Given the description of an element on the screen output the (x, y) to click on. 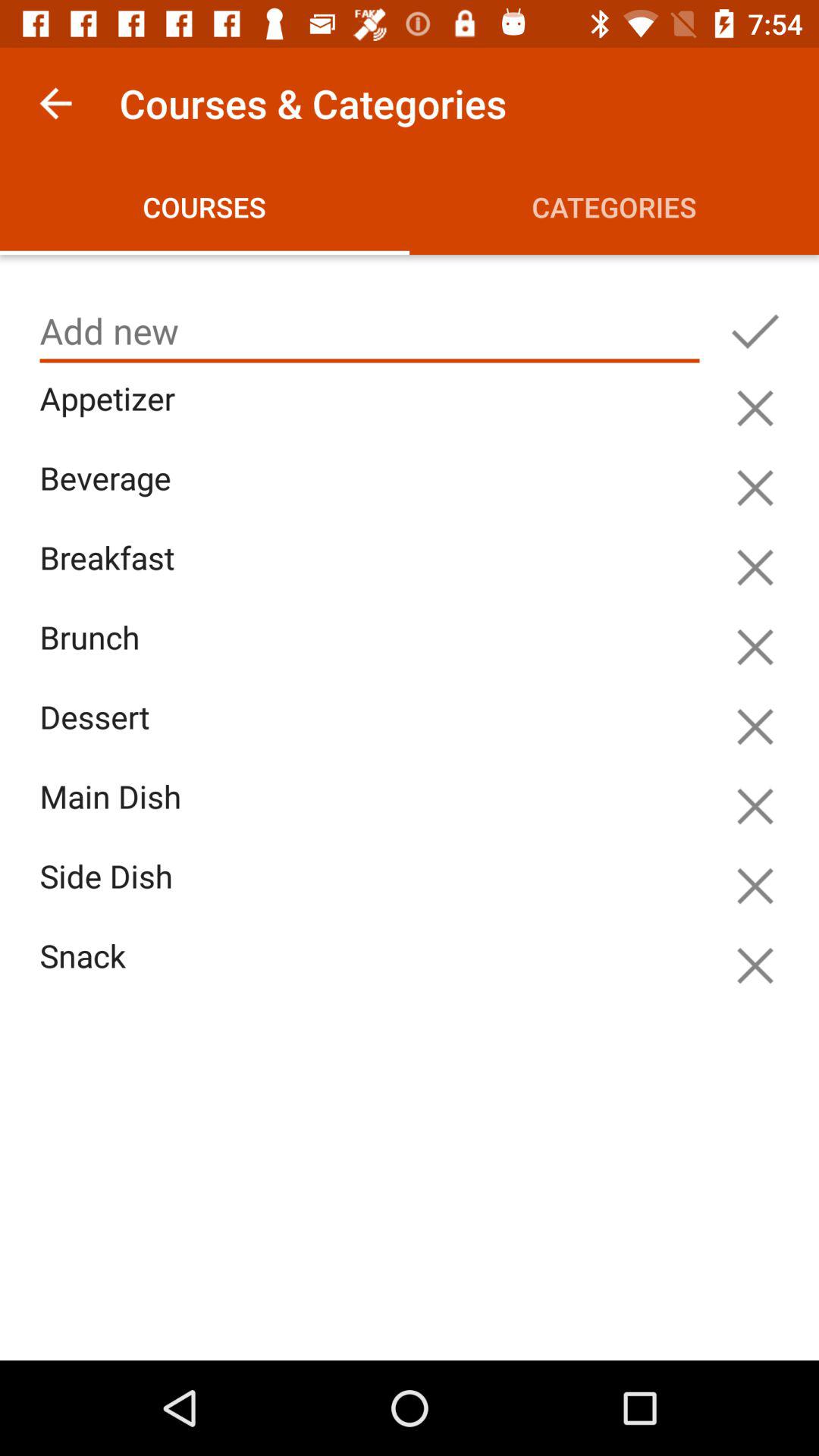
cancel option (755, 726)
